Given the description of an element on the screen output the (x, y) to click on. 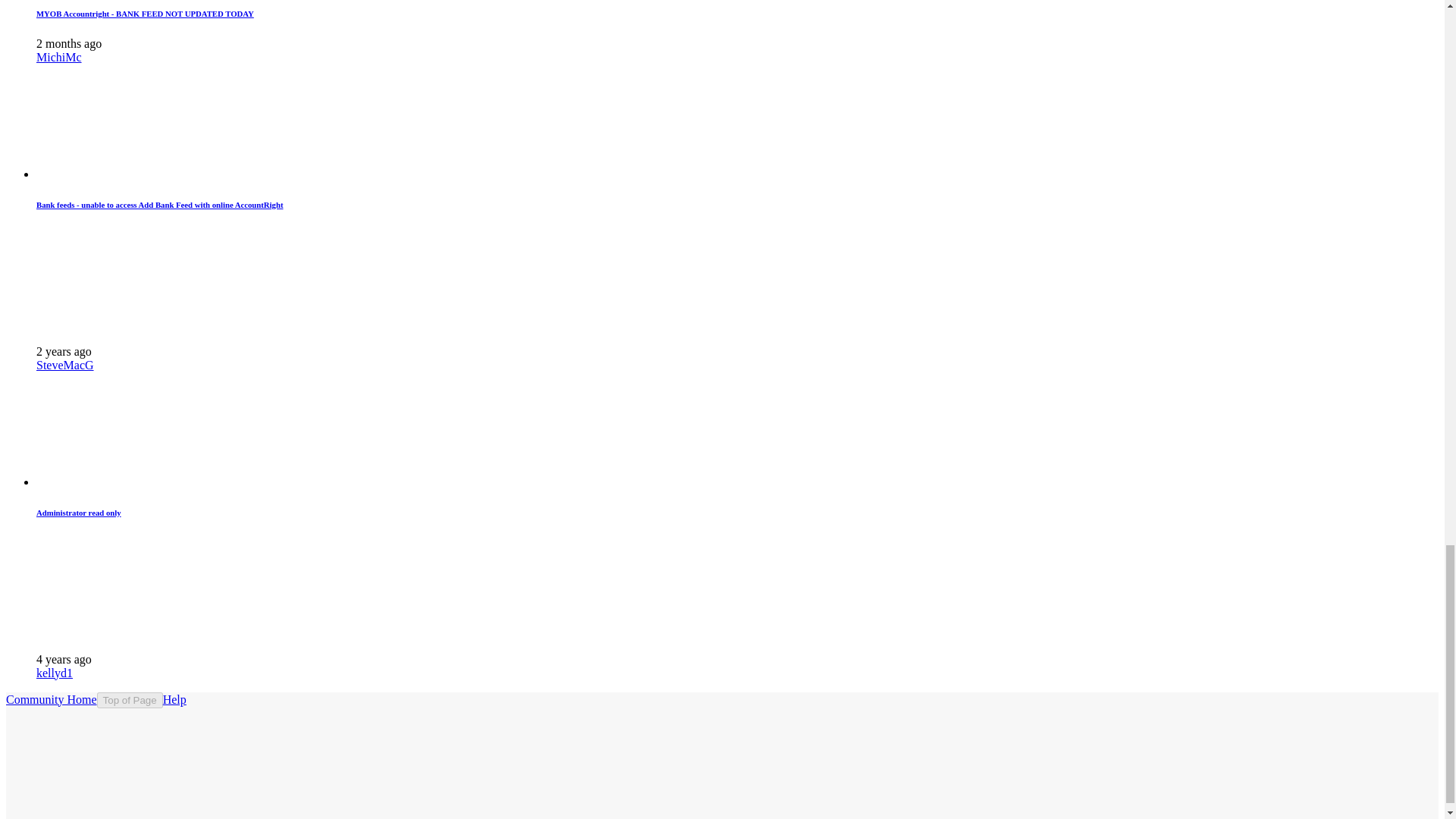
November 15, 2022 at 11:13 PM (63, 350)
MYOB Accountright - BANK FEED NOT UPDATED TODAY (144, 13)
MichiMc (58, 56)
June 26, 2024 at 1:32 AM (68, 42)
SteveMacG (65, 364)
Administrator read only (78, 511)
July 14, 2021 at 3:20 AM (63, 658)
kellyd1 (54, 672)
